Given the description of an element on the screen output the (x, y) to click on. 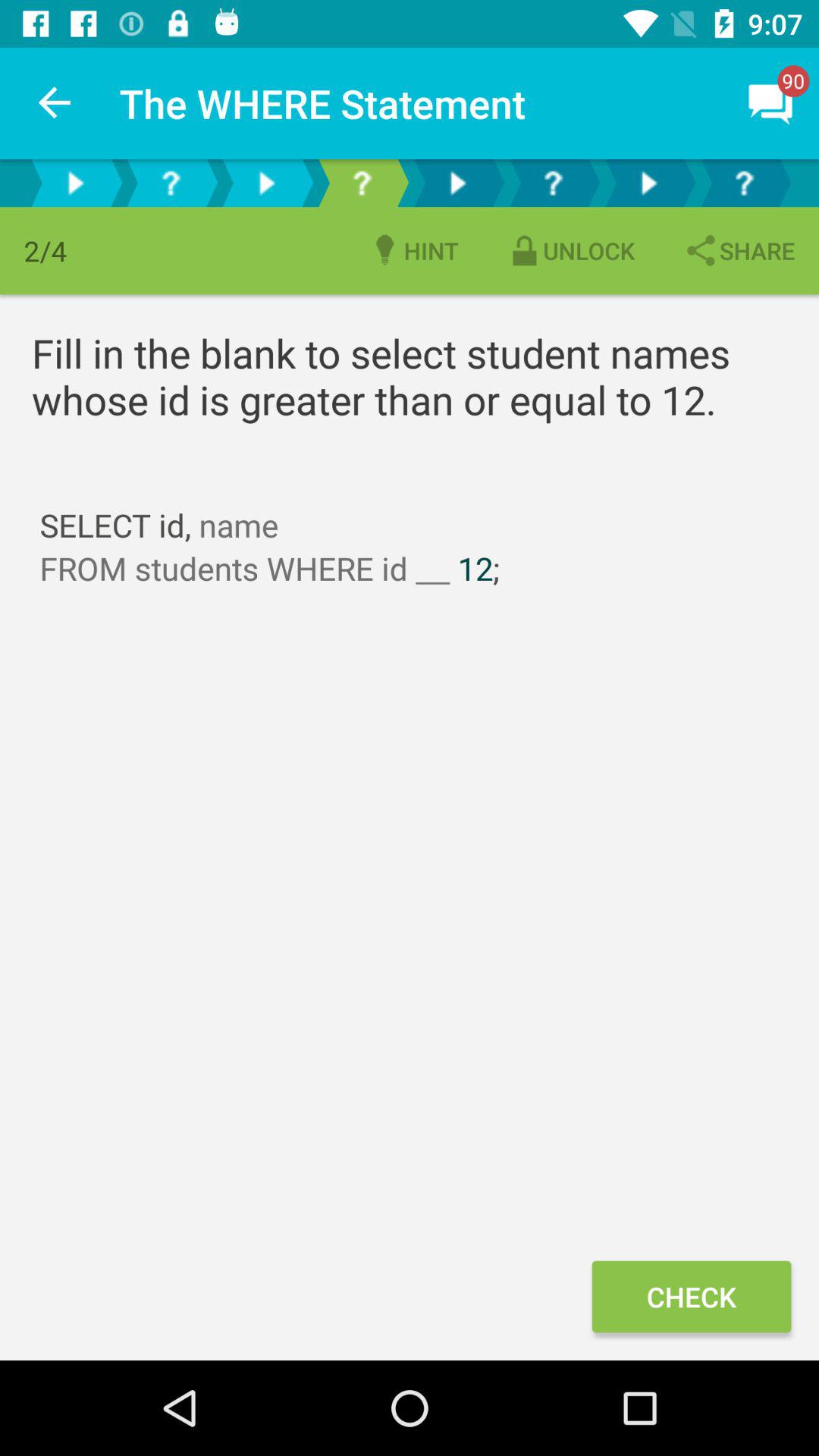
question mark button (170, 183)
